Given the description of an element on the screen output the (x, y) to click on. 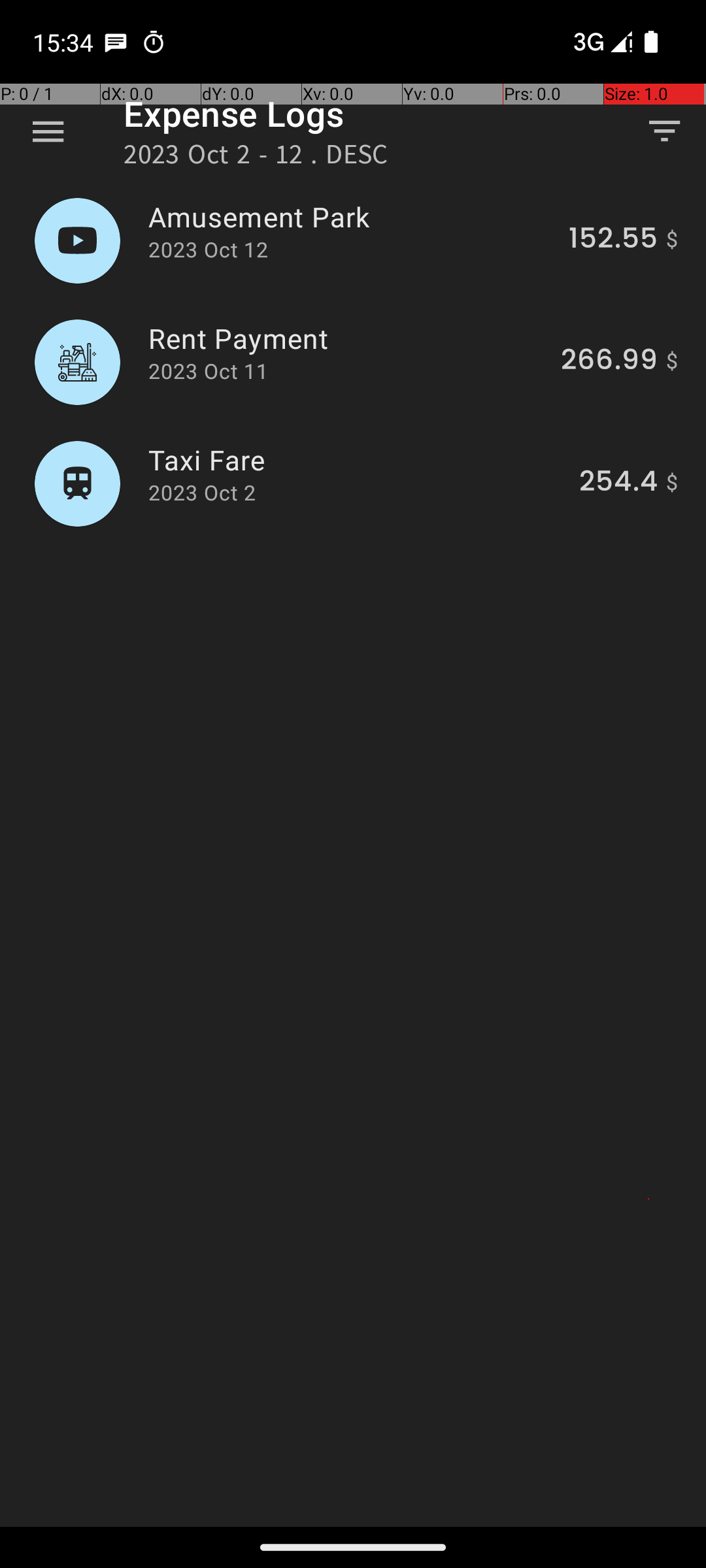
2023 Oct 2 - 12 . DESC Element type: android.widget.TextView (255, 157)
Amusement Park Element type: android.widget.TextView (350, 216)
152.55 Element type: android.widget.TextView (613, 240)
Rent Payment Element type: android.widget.TextView (346, 337)
266.99 Element type: android.widget.TextView (609, 362)
254.4 Element type: android.widget.TextView (618, 483)
